Given the description of an element on the screen output the (x, y) to click on. 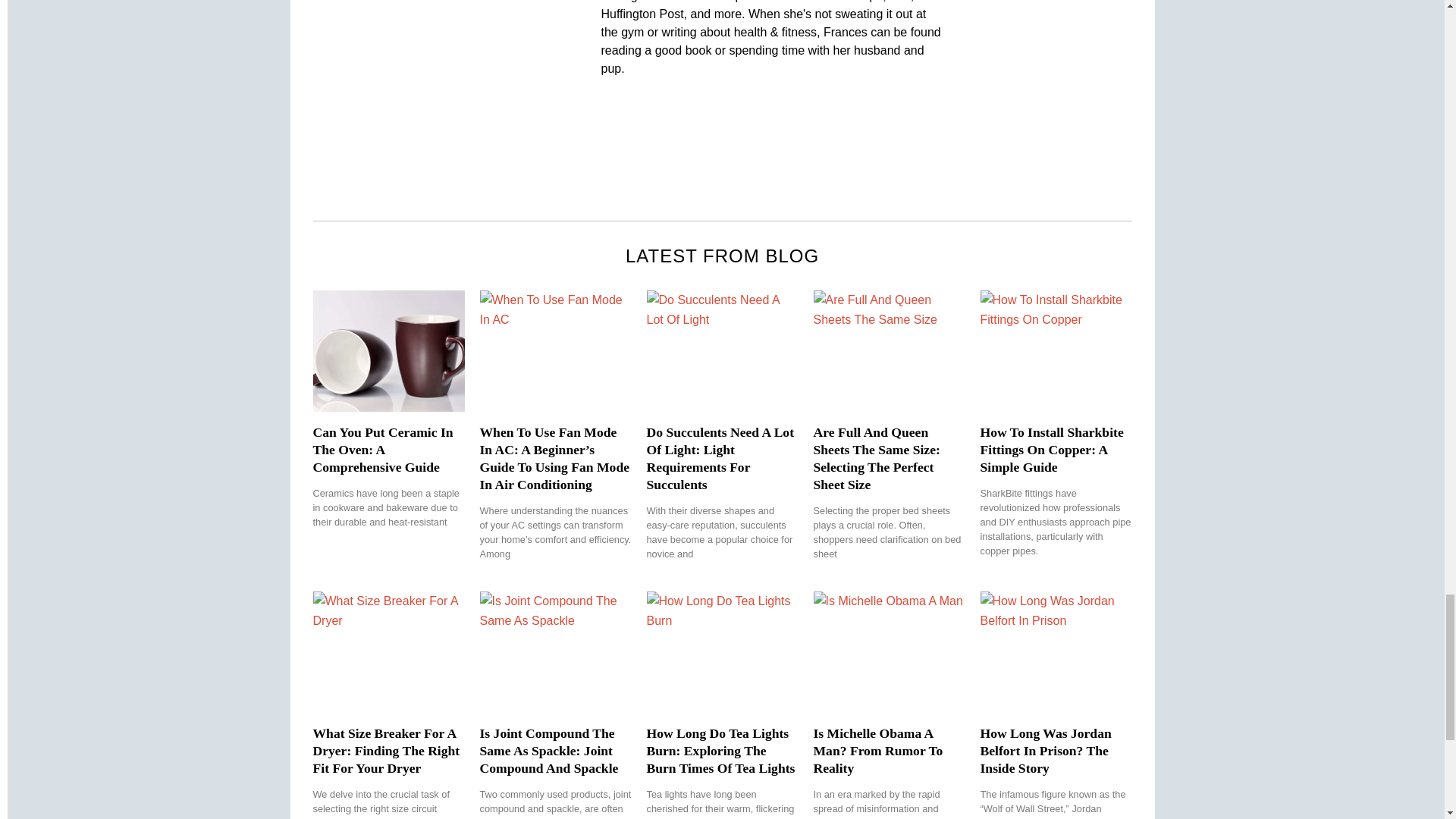
Can You Put Ceramic In The Oven: A Comprehensive Guide (382, 450)
How To Install Sharkbite Fittings On Copper: A Simple Guide (1050, 450)
